Given the description of an element on the screen output the (x, y) to click on. 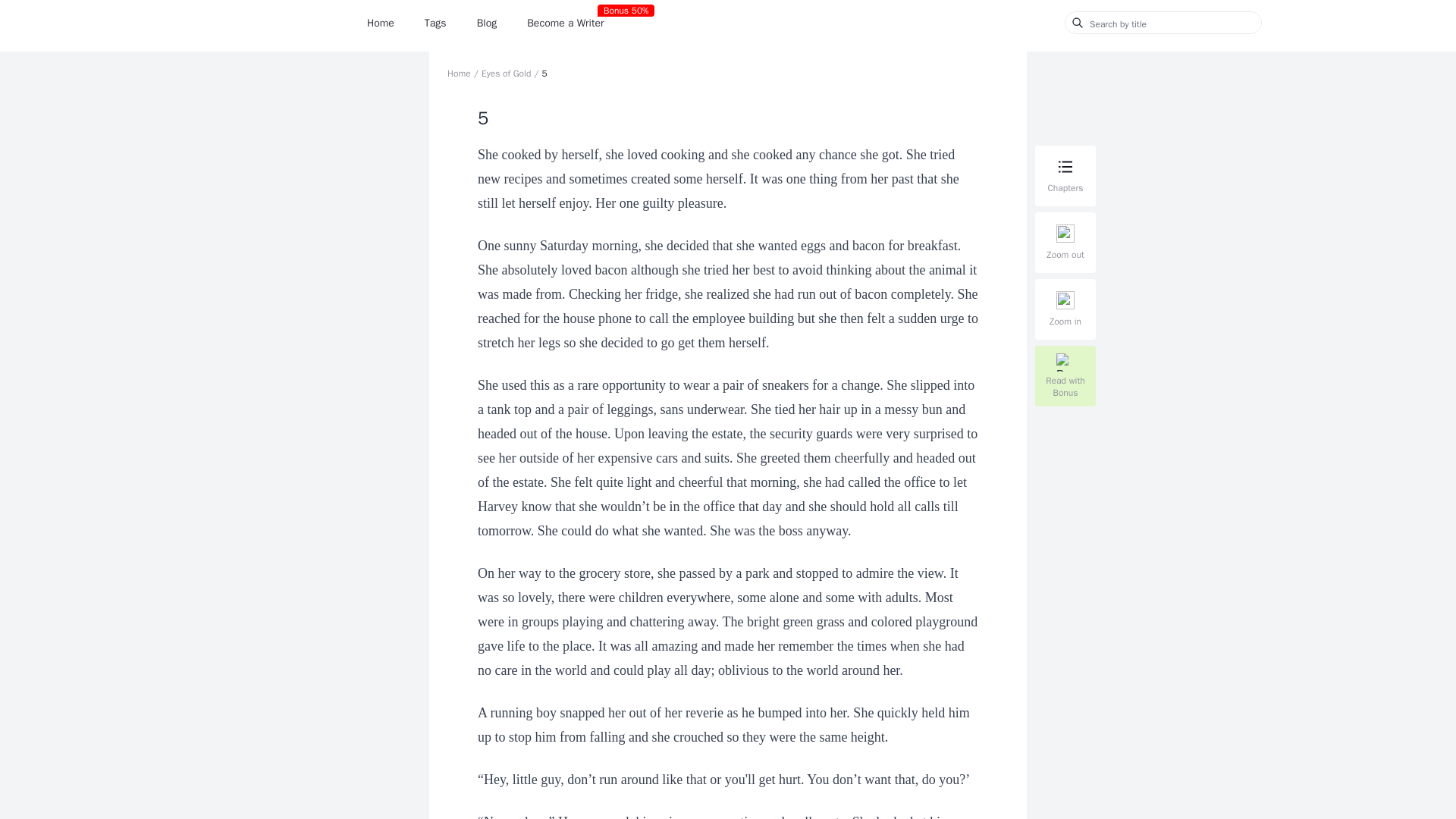
Read with Bonus (1063, 375)
Blog (486, 22)
Home (458, 73)
Home (380, 22)
Eyes of Gold (506, 73)
Tags (435, 22)
